Given the description of an element on the screen output the (x, y) to click on. 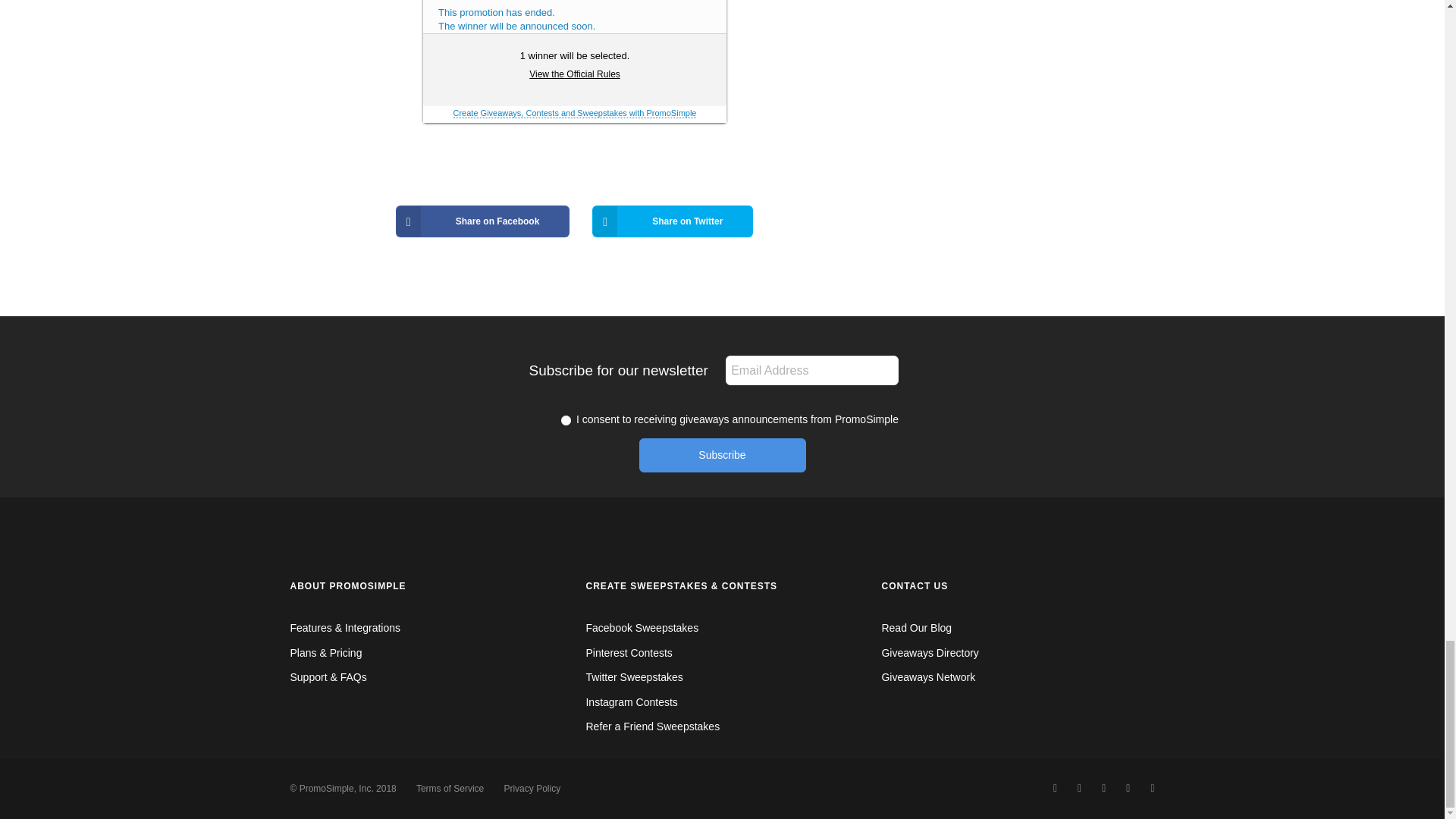
Giveaways Network (927, 676)
Twitter Sweepstakes (633, 676)
Share on Twitter (672, 221)
Share on Facebook (483, 221)
Privacy Policy (531, 787)
Pinterest Contests (628, 653)
Terms of Service (449, 787)
Read Our Blog (916, 627)
Giveaways Directory (929, 653)
Y (565, 420)
Subscribe (722, 455)
Instagram Contests (631, 702)
Facebook Sweepstakes (641, 627)
Refer a Friend Sweepstakes (652, 726)
Subscribe (722, 455)
